Given the description of an element on the screen output the (x, y) to click on. 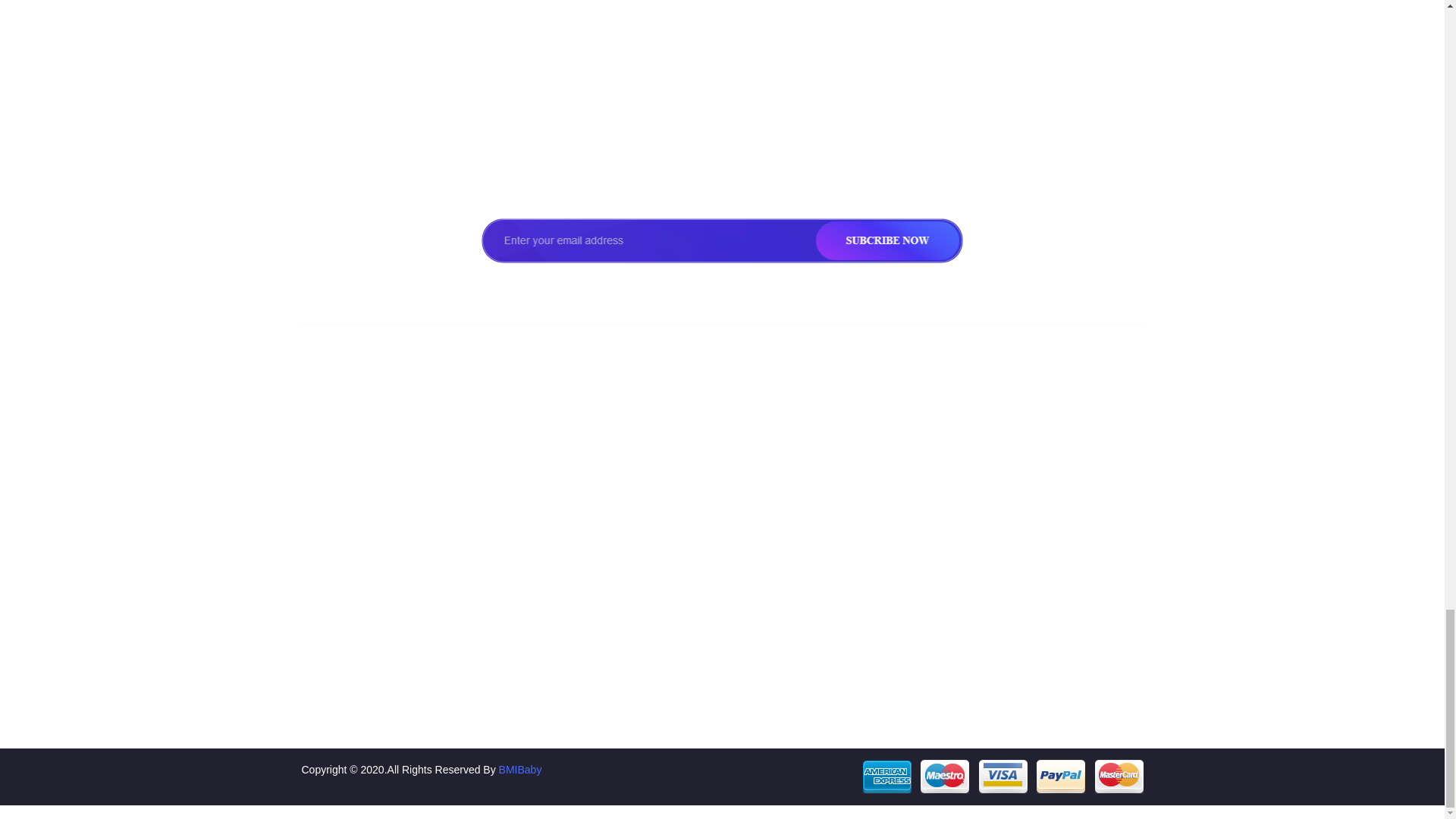
Car Hire UK (617, 617)
Car Hire France (617, 496)
Car Hire Australia (834, 496)
About Us (401, 465)
Flights (401, 556)
Car Hire Mexico (834, 556)
Privacy (401, 526)
Car Hire USA (834, 465)
Car Hire UAE (834, 647)
Car Hire Thailand (834, 617)
